Given the description of an element on the screen output the (x, y) to click on. 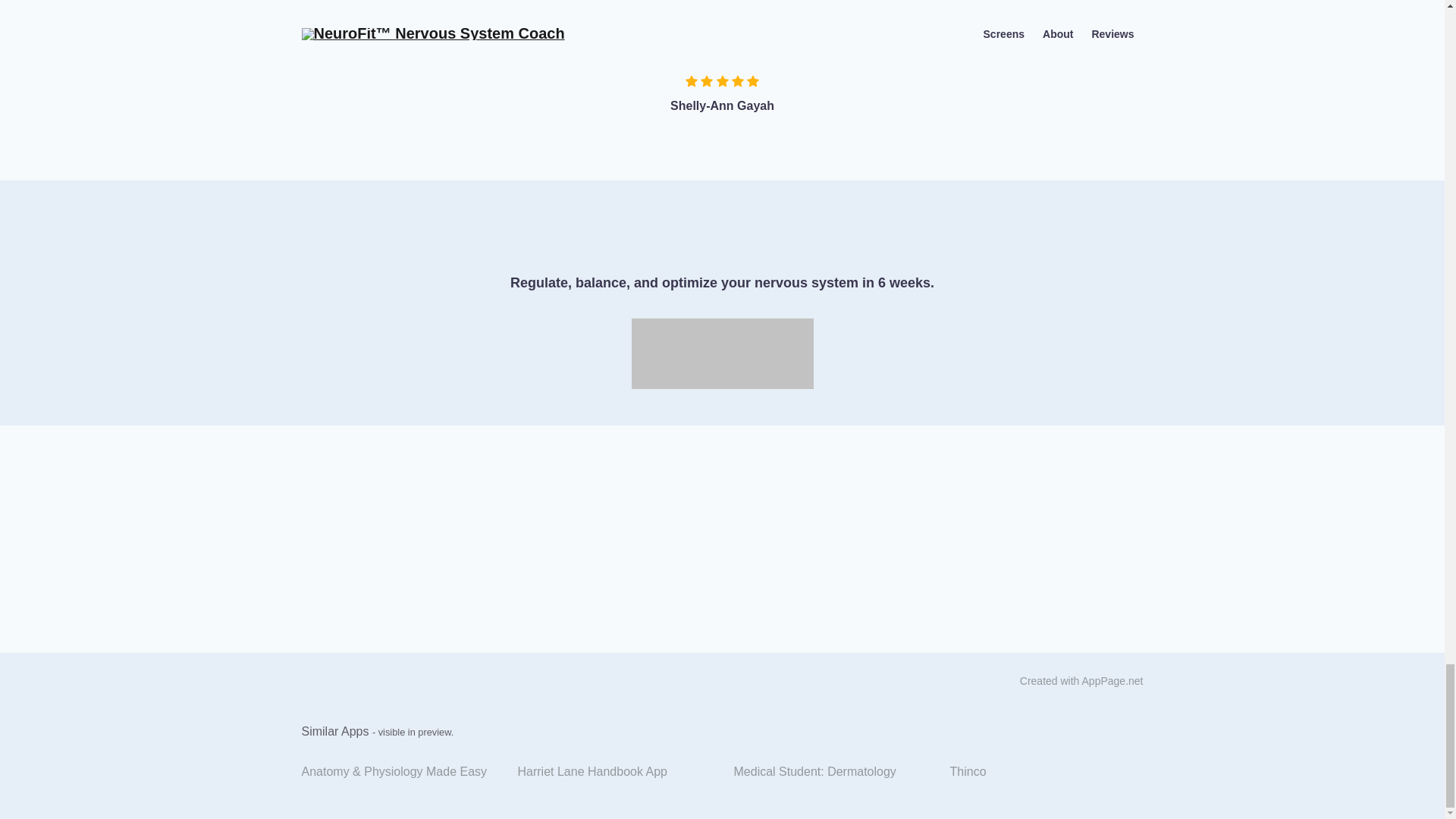
Thinco (1046, 771)
Harriet Lane Handbook App (614, 771)
Medical Student: Dermatology (829, 771)
AppPage.net (1111, 680)
